Given the description of an element on the screen output the (x, y) to click on. 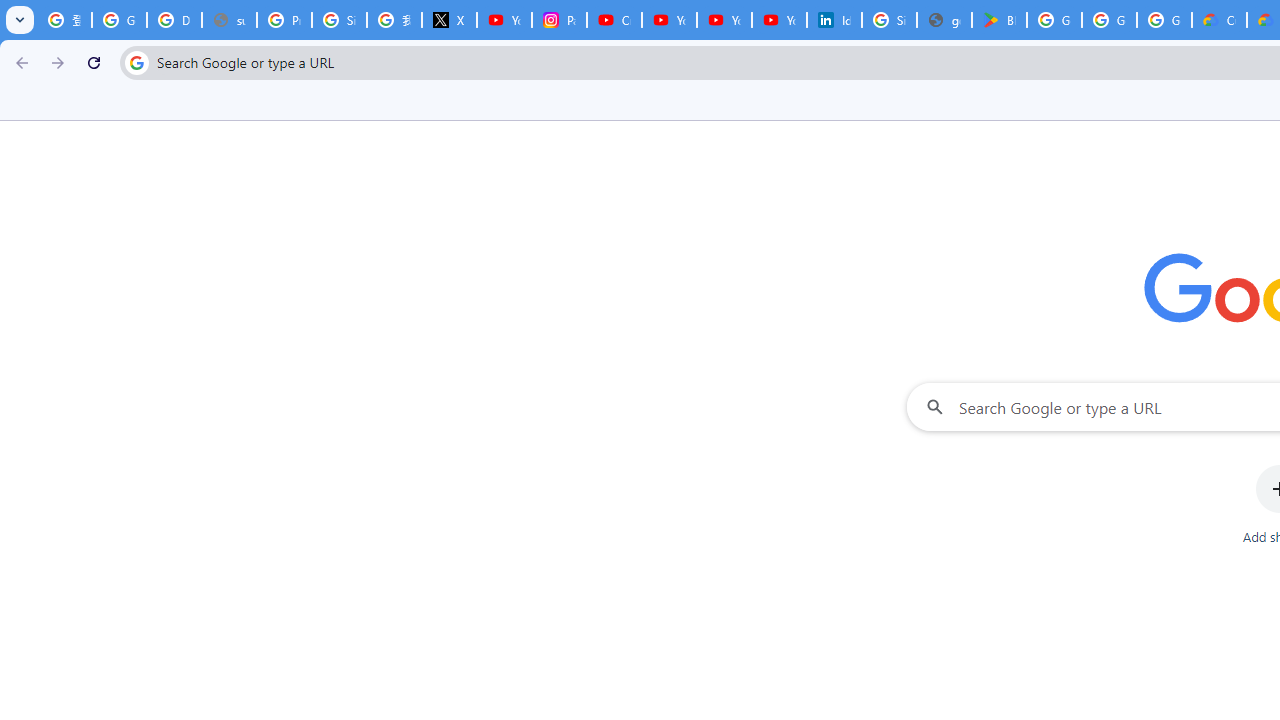
X (449, 20)
Bluey: Let's Play! - Apps on Google Play (998, 20)
google_privacy_policy_en.pdf (943, 20)
Sign in - Google Accounts (339, 20)
Privacy Help Center - Policies Help (284, 20)
Customer Care | Google Cloud (1218, 20)
Google Workspace - Specific Terms (1108, 20)
YouTube Culture & Trends - YouTube Top 10, 2021 (779, 20)
